Given the description of an element on the screen output the (x, y) to click on. 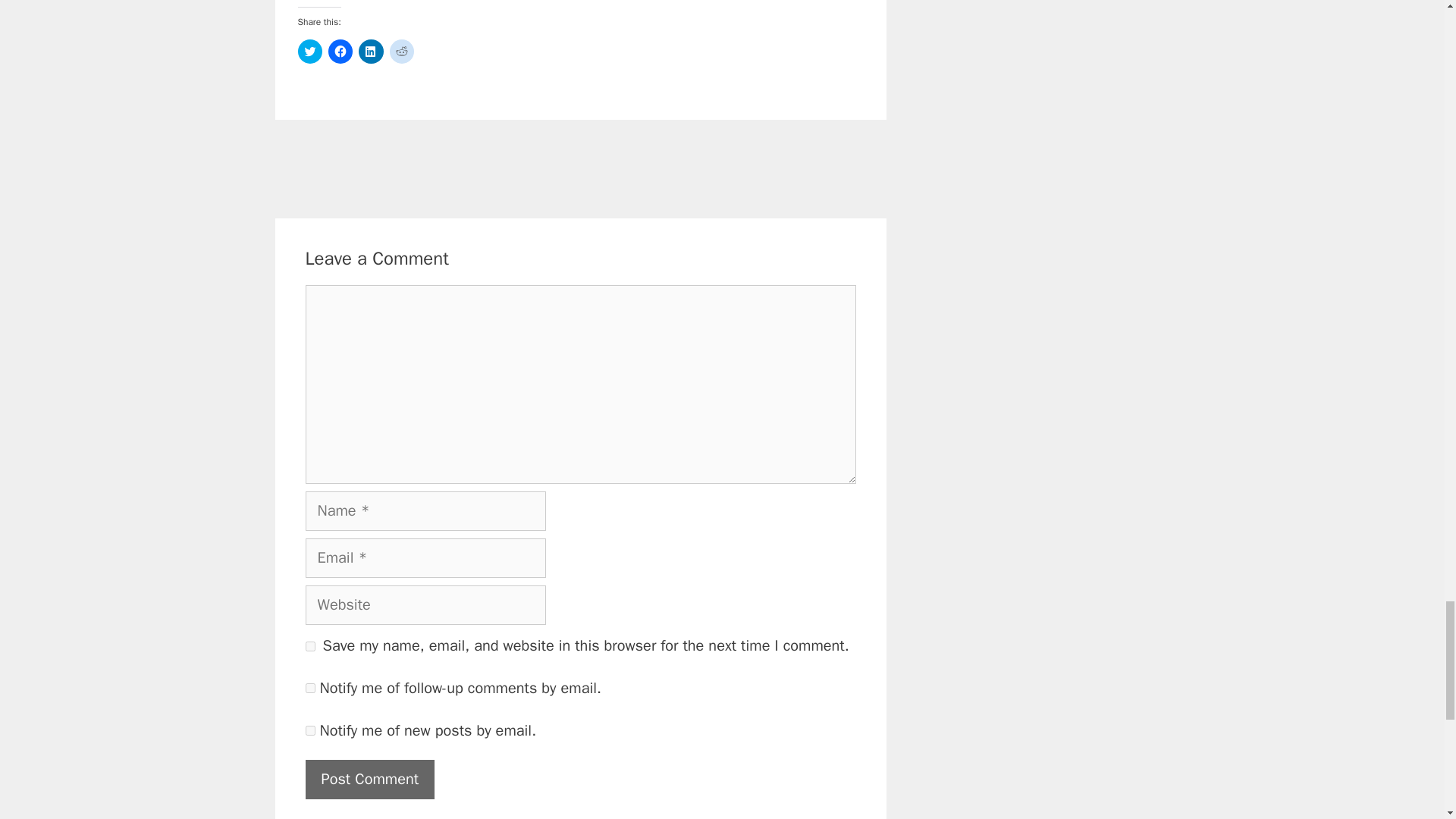
subscribe (309, 730)
Click to share on Facebook (340, 51)
Post Comment (368, 779)
yes (309, 646)
subscribe (309, 687)
Click to share on LinkedIn (370, 51)
Click to share on Twitter (309, 51)
Post Comment (368, 779)
Click to share on Reddit (401, 51)
